Given the description of an element on the screen output the (x, y) to click on. 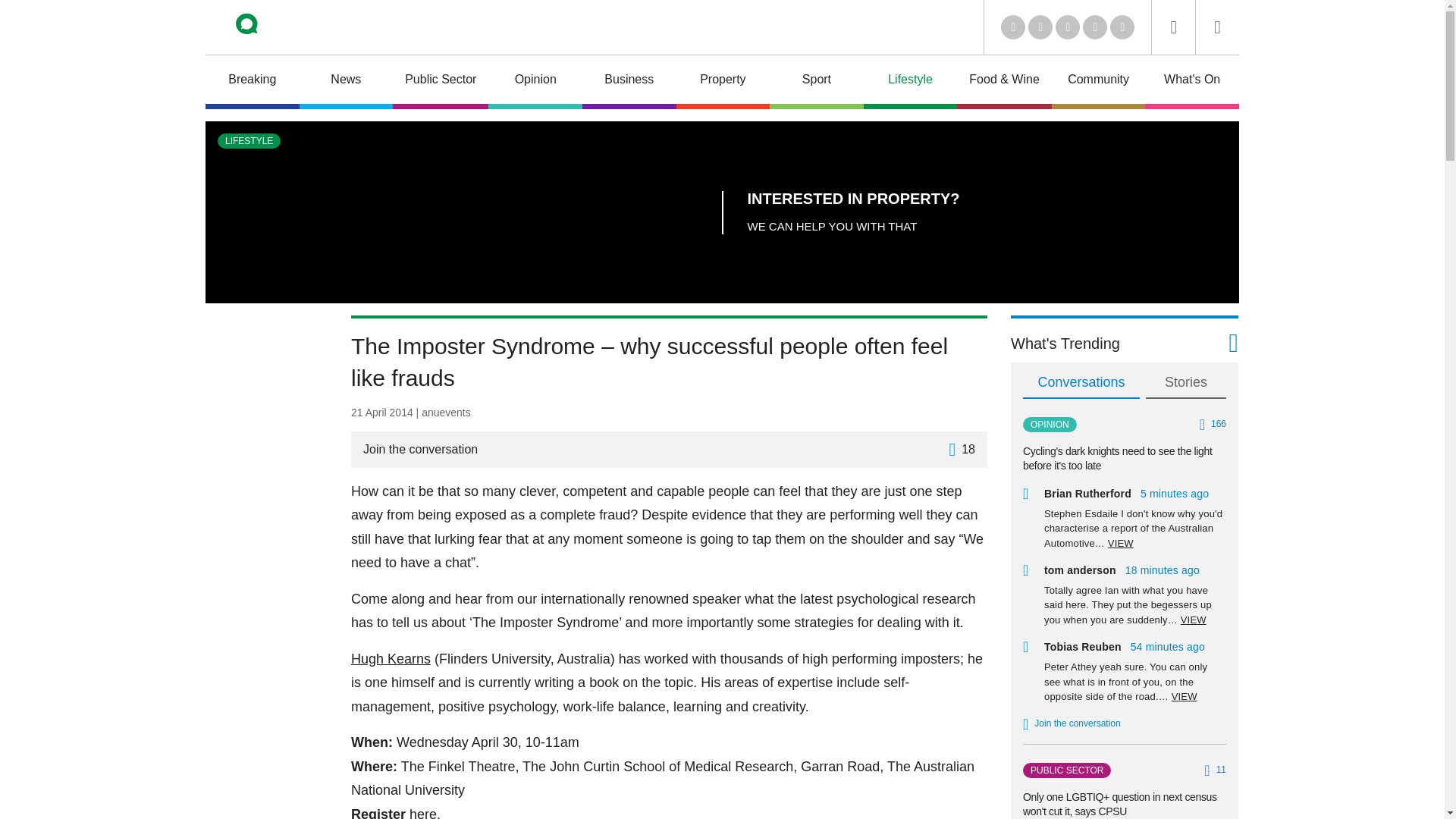
News (346, 81)
Riotact Home (267, 26)
Breaking (252, 81)
Instagram (1121, 27)
Facebook (1094, 27)
Youtube (1067, 27)
LinkedIn (1013, 27)
Twitter (1039, 27)
